Given the description of an element on the screen output the (x, y) to click on. 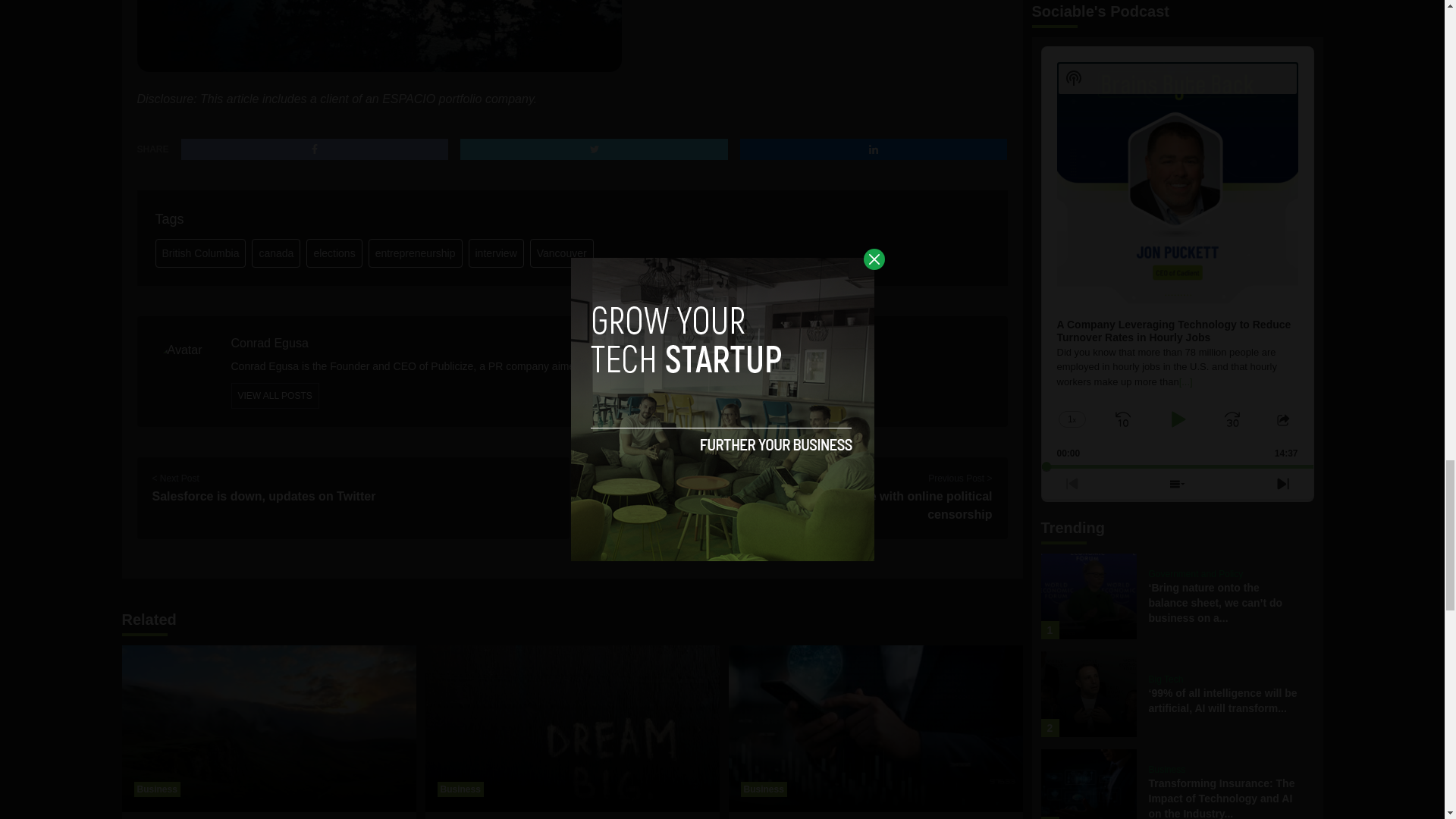
British Columbia (200, 253)
canada (275, 253)
